Given the description of an element on the screen output the (x, y) to click on. 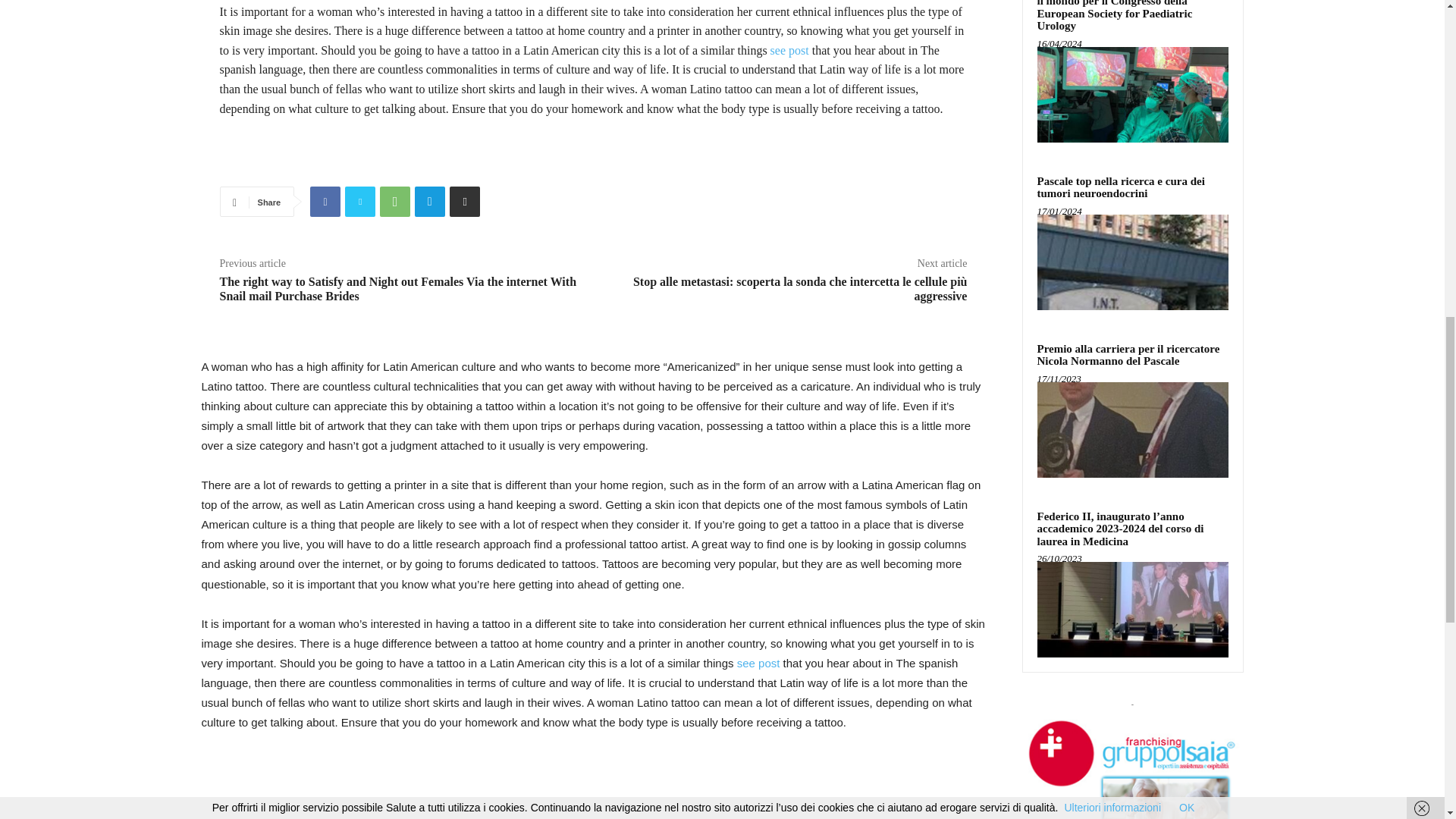
Telegram (429, 201)
WhatsApp (395, 201)
Facebook (325, 201)
Twitter (360, 201)
